Given the description of an element on the screen output the (x, y) to click on. 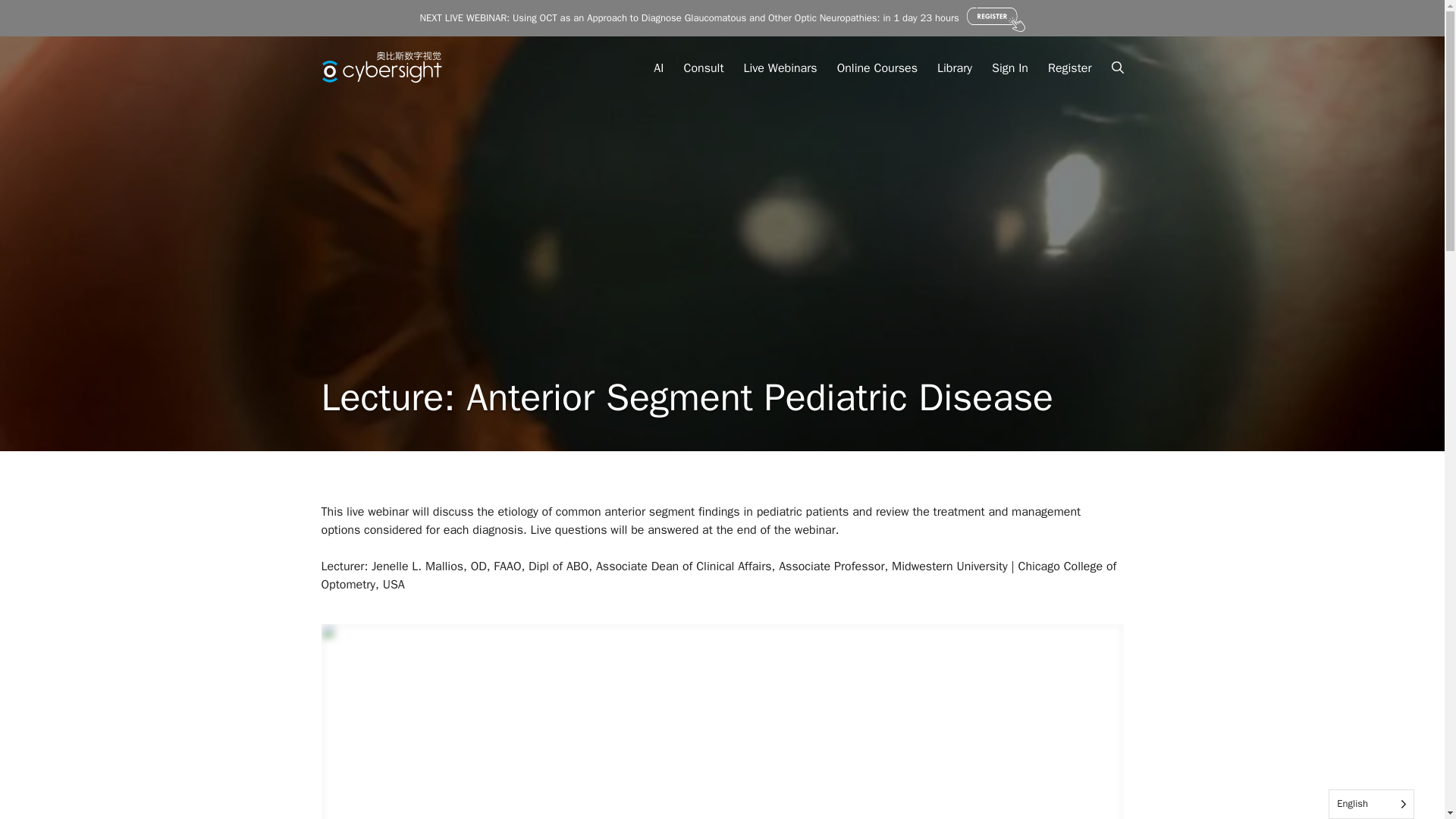
Register (1070, 68)
Sign In (1009, 68)
Online Courses (877, 68)
Live Webinars (780, 68)
AI (657, 68)
Library (954, 68)
Cybersight (359, 67)
Consult (702, 68)
Cybersight (359, 56)
